Given the description of an element on the screen output the (x, y) to click on. 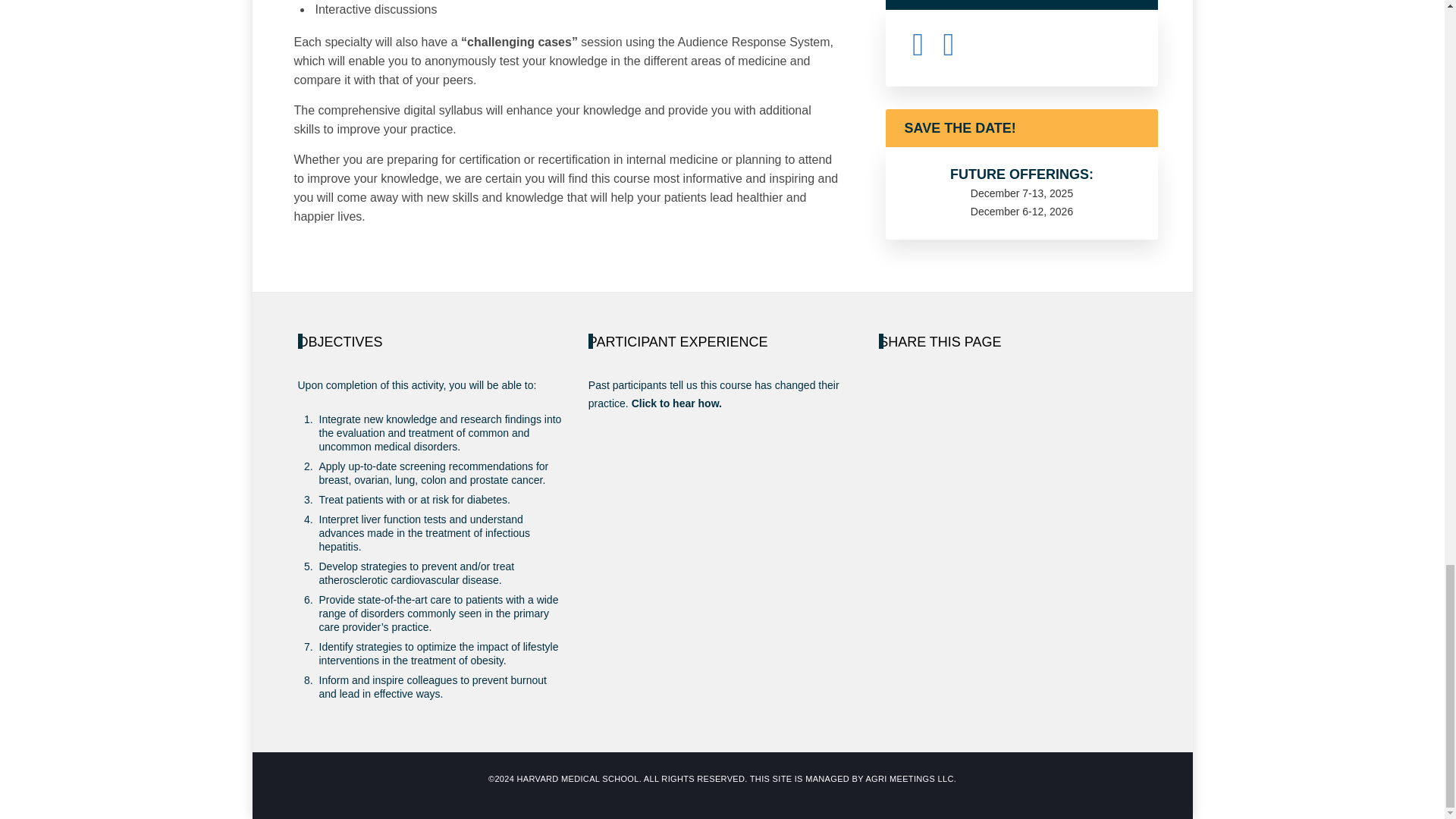
Click to hear how. (676, 403)
AGRI MEETINGS LLC (908, 777)
